Given the description of an element on the screen output the (x, y) to click on. 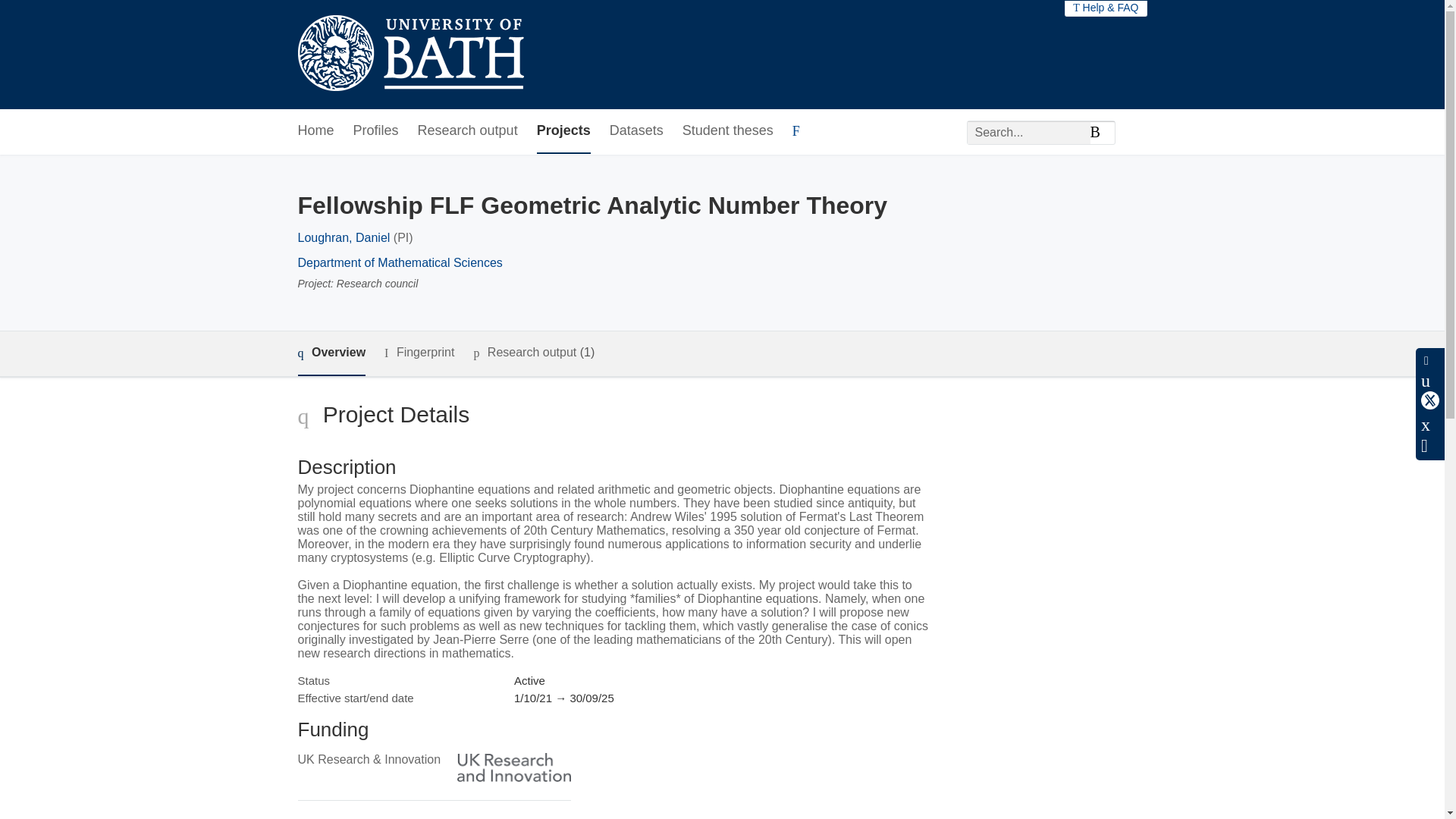
Datasets (636, 130)
Fingerprint (419, 352)
Research output (467, 130)
Department of Mathematical Sciences (399, 262)
Profiles (375, 130)
Projects (564, 130)
the University of Bath's research portal Home (409, 54)
Home (315, 130)
Overview (331, 353)
Student theses (727, 130)
Loughran, Daniel (343, 237)
